Given the description of an element on the screen output the (x, y) to click on. 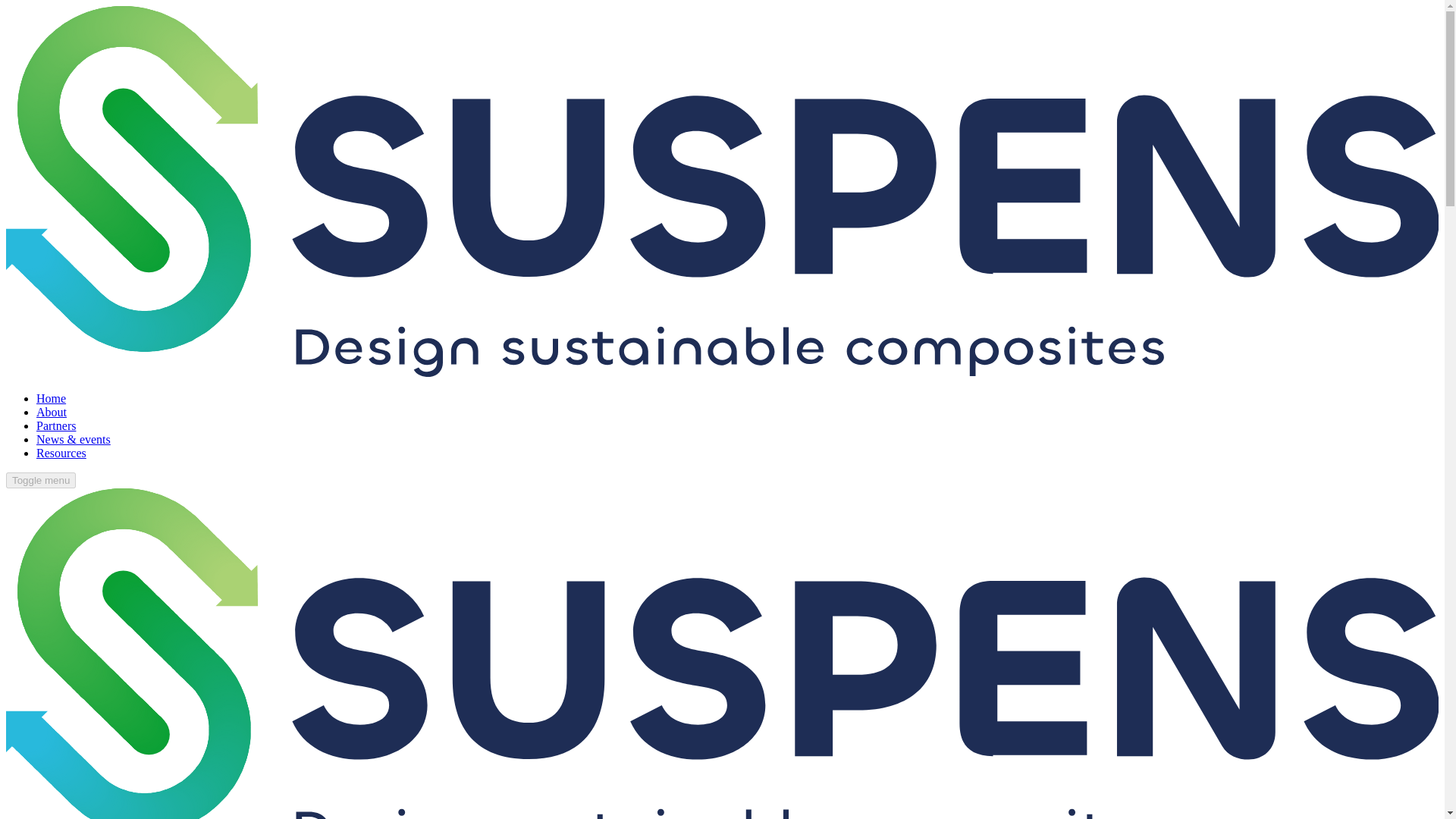
Home (50, 398)
About (51, 411)
Resources (60, 452)
Menu (40, 480)
Partners (55, 425)
Toggle menu (40, 480)
